Given the description of an element on the screen output the (x, y) to click on. 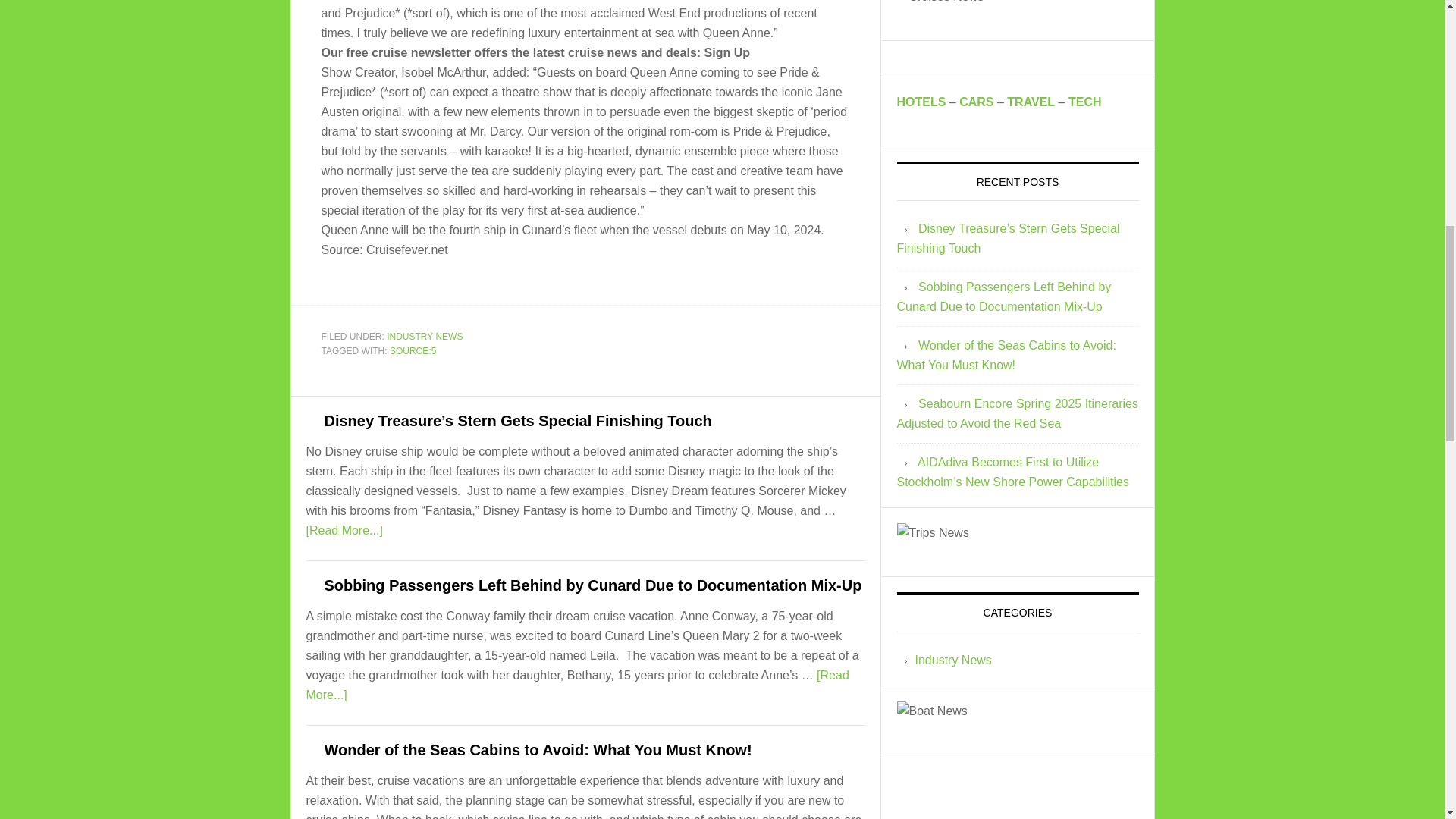
INDUSTRY NEWS (425, 335)
Wonder of the Seas Cabins to Avoid: What You Must Know! (538, 750)
SOURCE:5 (412, 350)
